Given the description of an element on the screen output the (x, y) to click on. 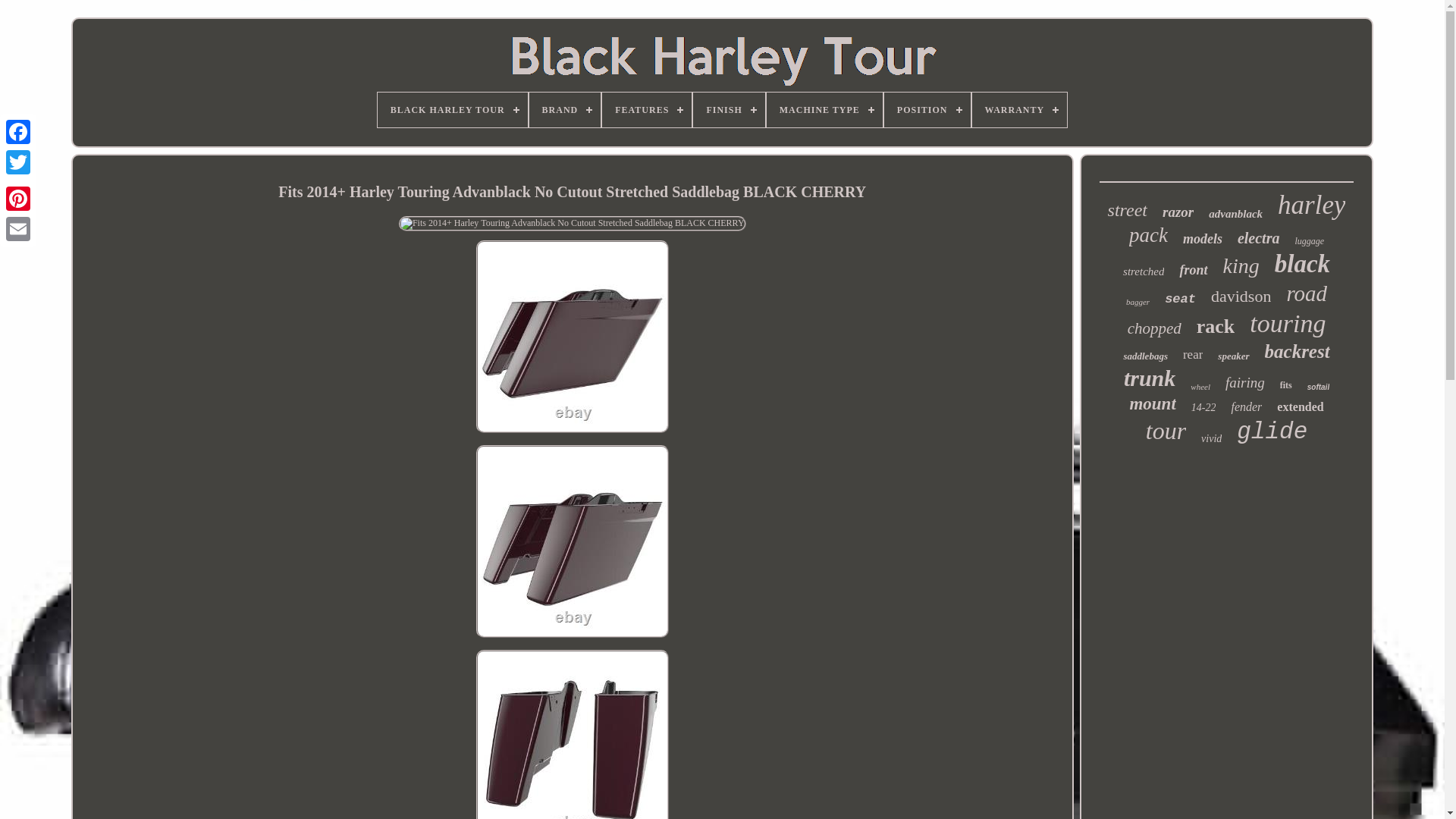
BLACK HARLEY TOUR (452, 109)
BRAND (565, 109)
FEATURES (646, 109)
